Given the description of an element on the screen output the (x, y) to click on. 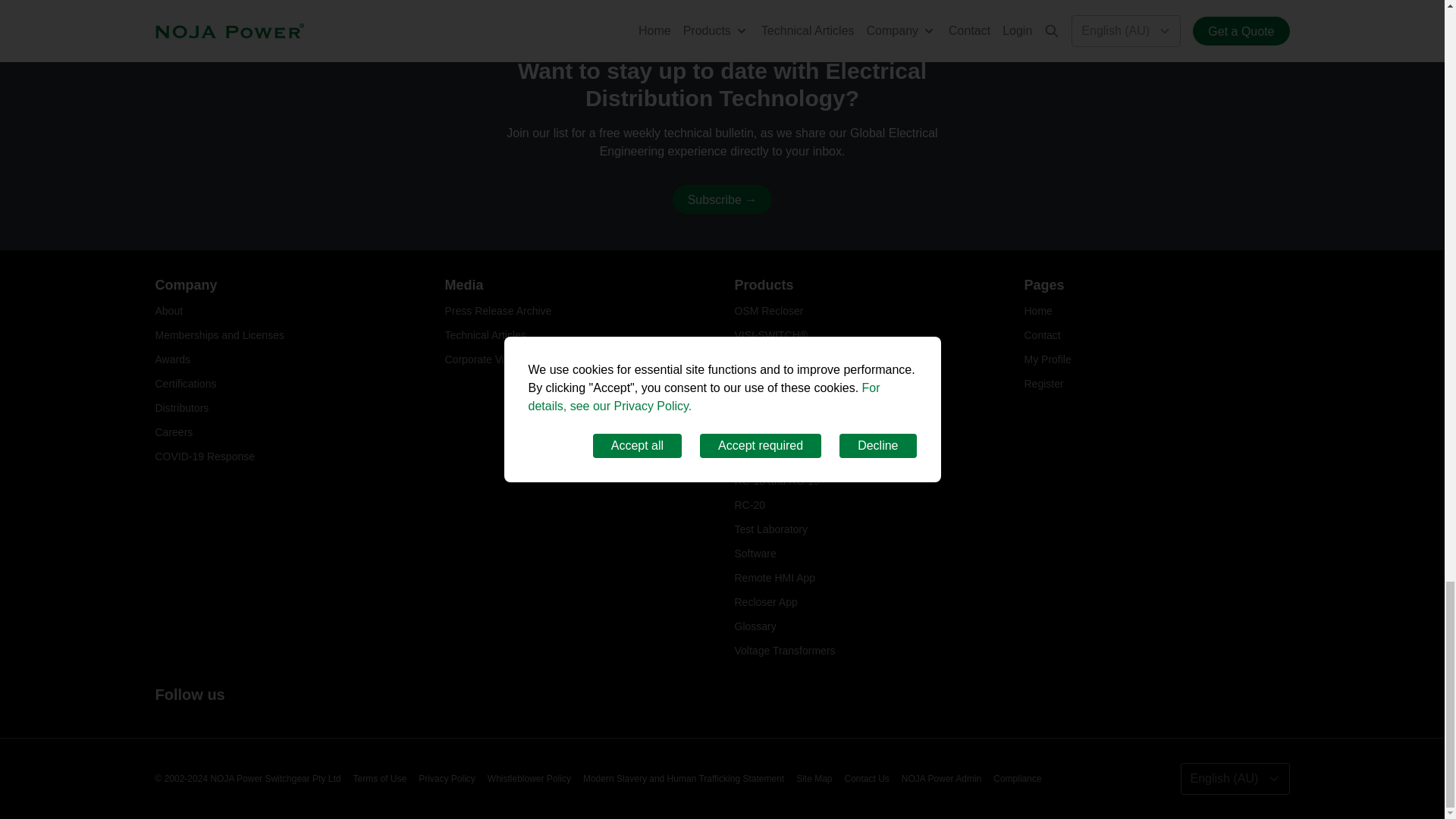
Press Release Archive (497, 310)
Distributors (181, 408)
Corporate Videos (485, 358)
COVID-19 Response (204, 456)
Technical Articles (484, 335)
About (168, 310)
Certifications (184, 383)
Careers (173, 431)
Memberships and Licenses (218, 335)
Awards (171, 358)
